Given the description of an element on the screen output the (x, y) to click on. 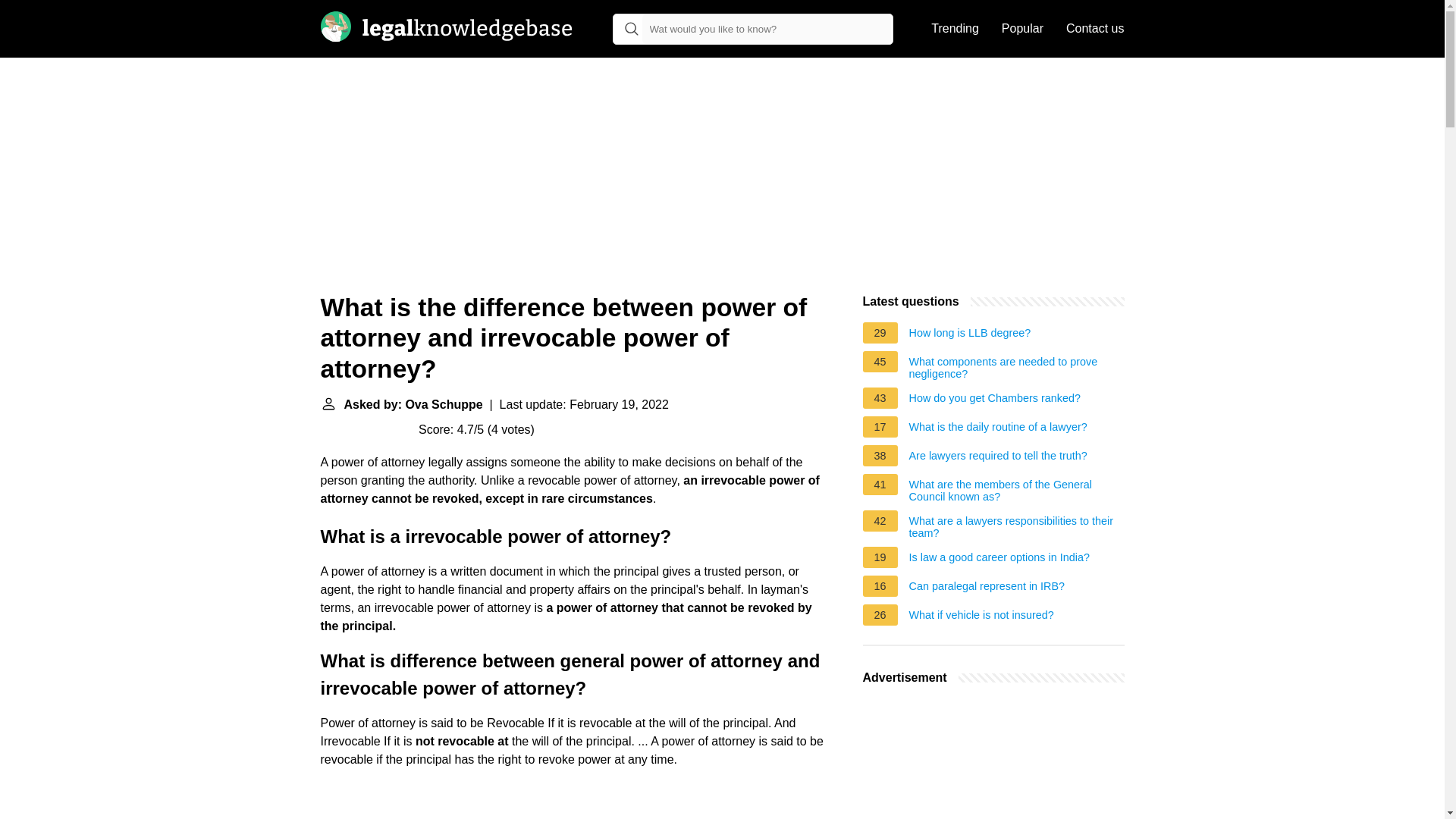
How long is LLB degree? (969, 334)
What is the daily routine of a lawyer? (997, 428)
Popular (1022, 28)
What if vehicle is not insured? (981, 617)
How do you get Chambers ranked? (994, 400)
Are lawyers required to tell the truth? (997, 457)
Trending (954, 28)
Contact us (1094, 28)
Is law a good career options in India? (998, 559)
Can paralegal represent in IRB? (986, 588)
